Given the description of an element on the screen output the (x, y) to click on. 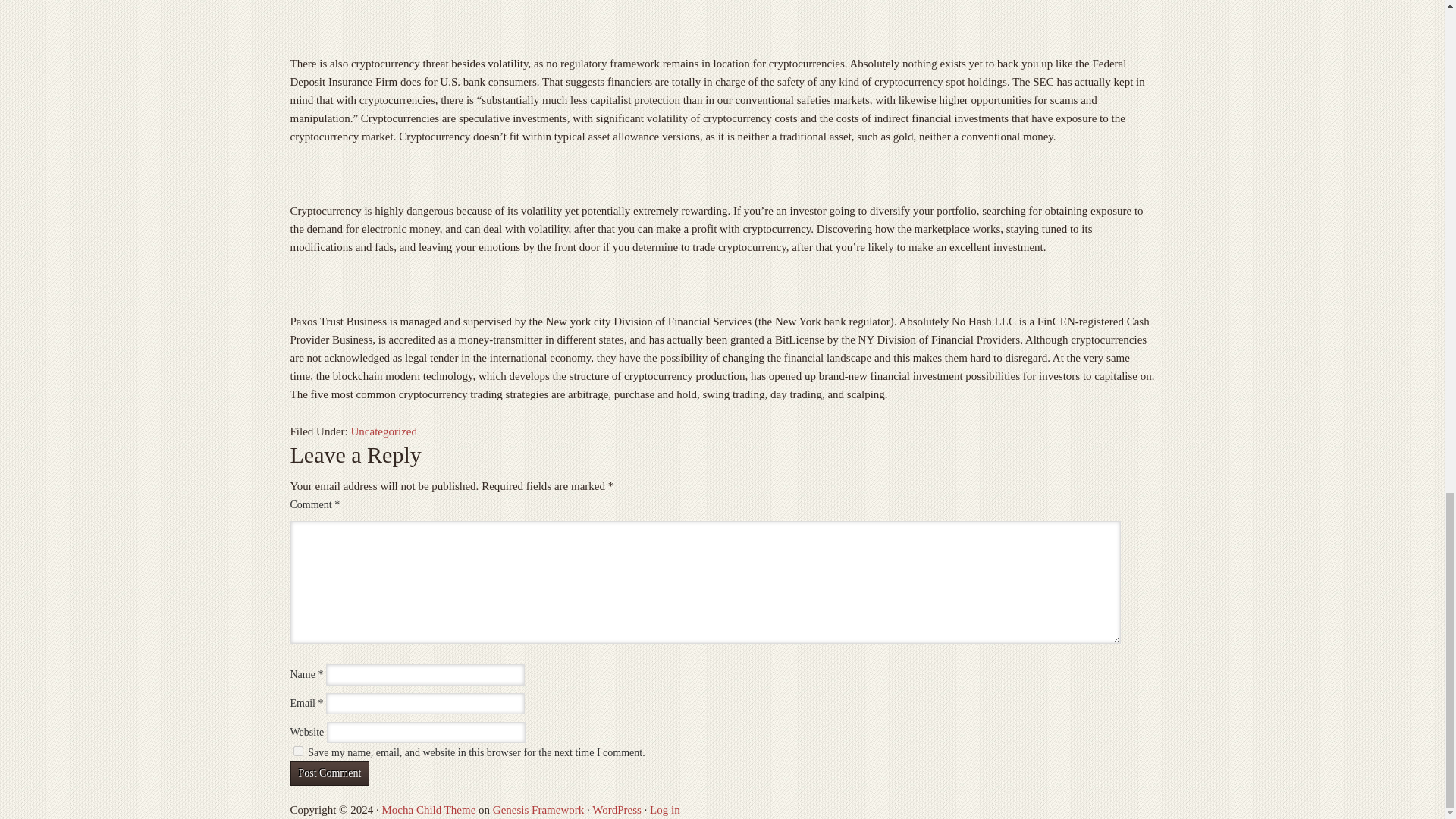
yes (297, 750)
WordPress (617, 809)
Post Comment (329, 773)
Mocha Child Theme (428, 809)
Post Comment (329, 773)
Log in (664, 809)
Uncategorized (383, 431)
Genesis Framework (538, 809)
